Given the description of an element on the screen output the (x, y) to click on. 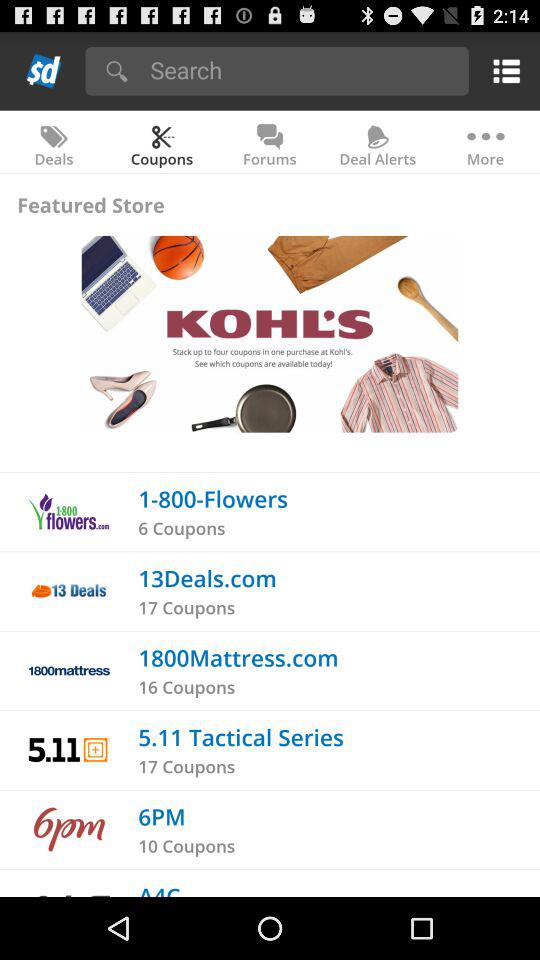
view menu (502, 70)
